Given the description of an element on the screen output the (x, y) to click on. 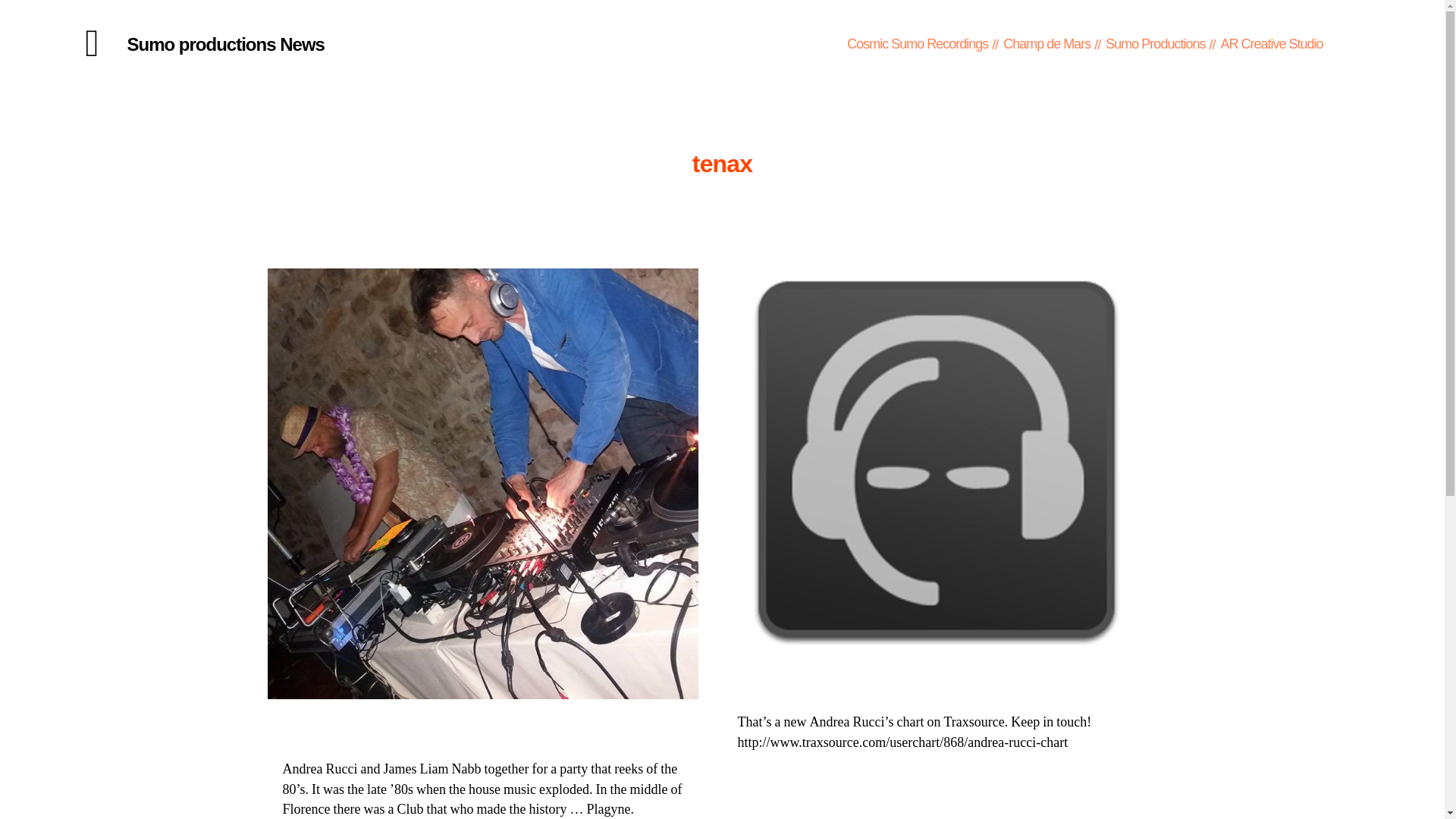
Cosmic Sumo Recordings (917, 44)
AR Creative Studio (1271, 44)
Sumo Productions (1155, 44)
Champ de Mars (1046, 44)
Sumo productions News (226, 45)
